Given the description of an element on the screen output the (x, y) to click on. 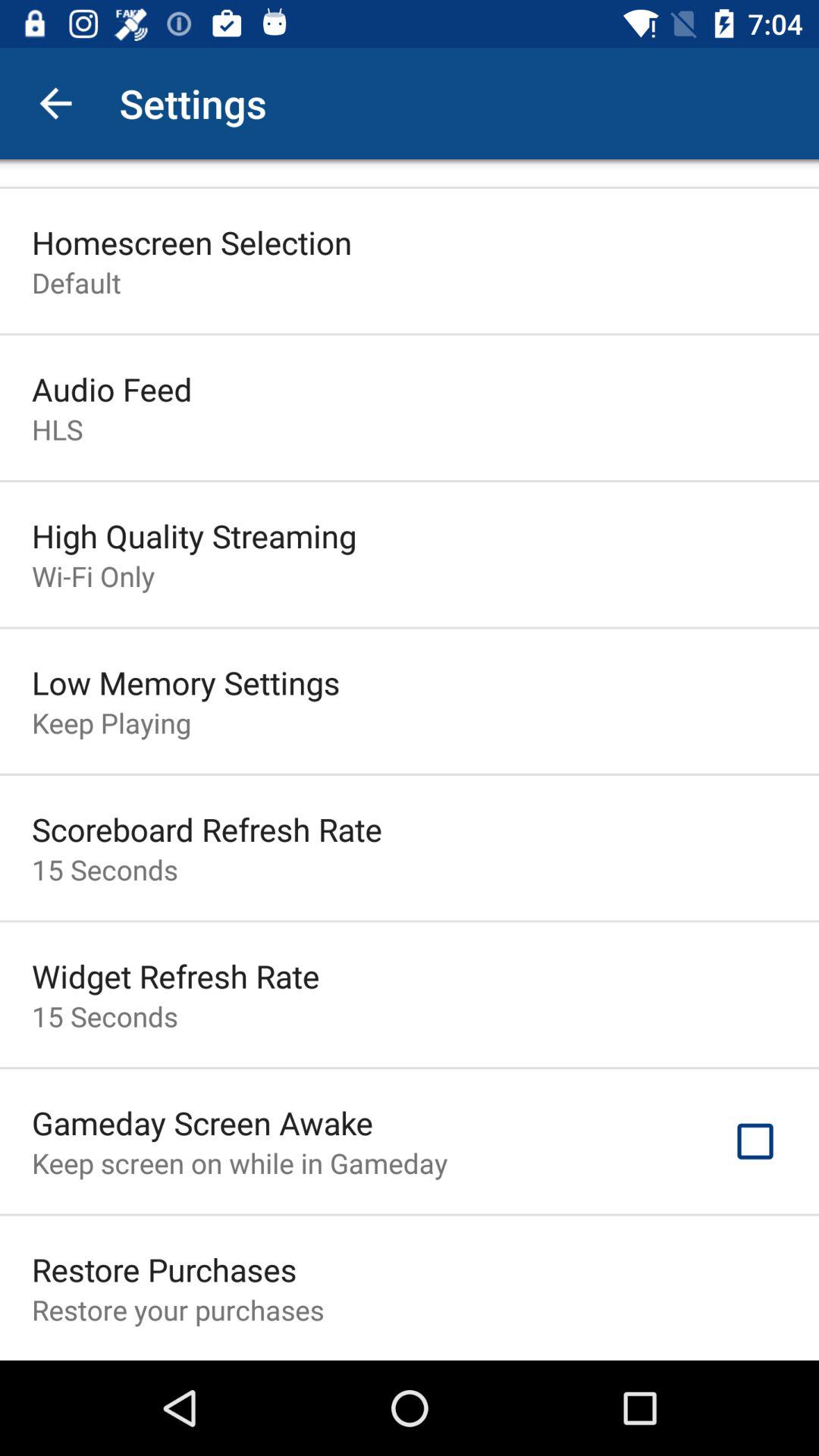
flip to audio feed item (111, 388)
